Given the description of an element on the screen output the (x, y) to click on. 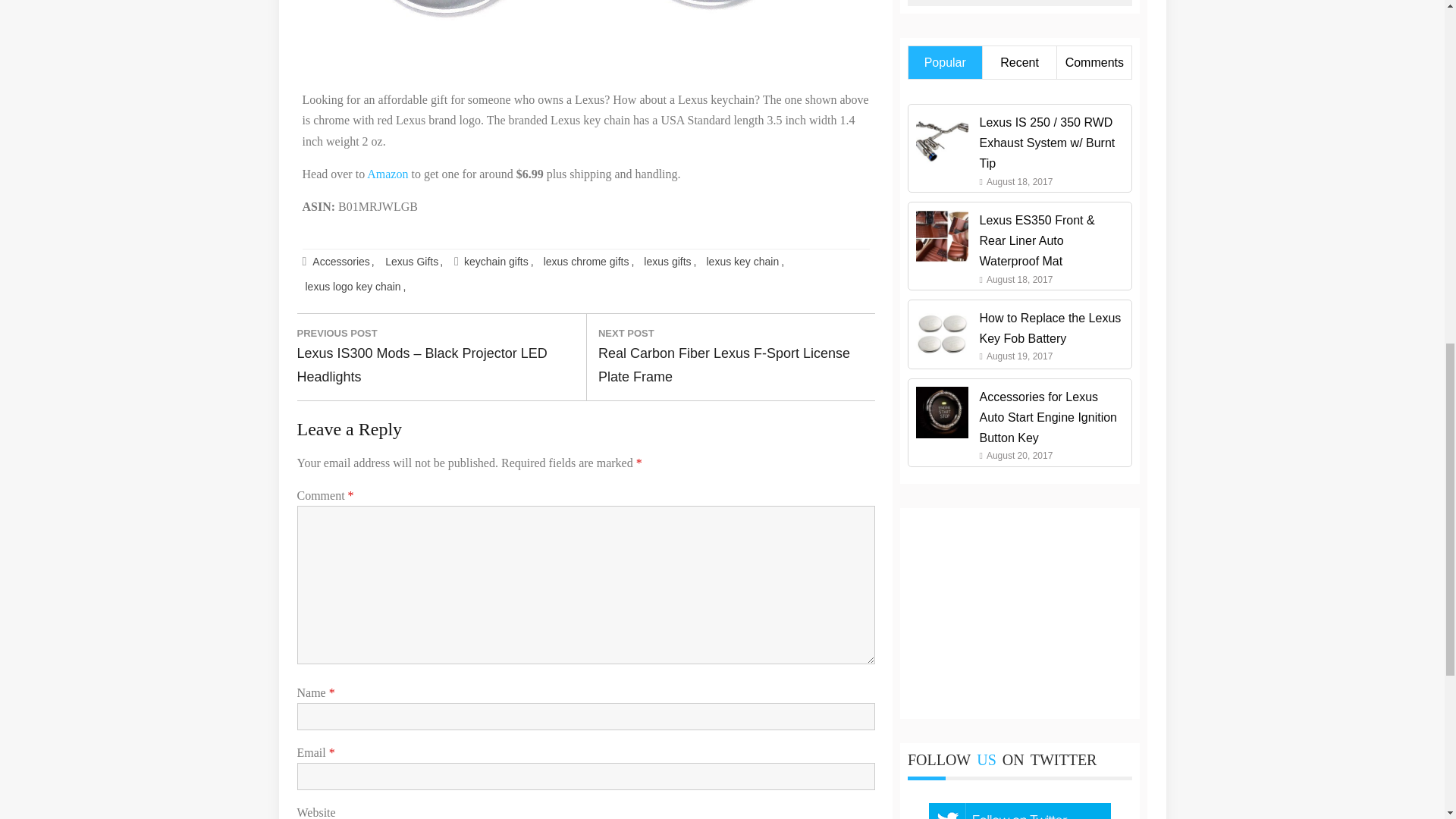
lexus key chain (745, 262)
Amazon (386, 173)
lexus chrome gifts (588, 262)
keychain gifts (499, 262)
Accessories (342, 262)
lexus logo key chain (355, 287)
Advertisement (1019, 2)
Lexus Gifts (413, 262)
lexus gifts (669, 262)
